Given the description of an element on the screen output the (x, y) to click on. 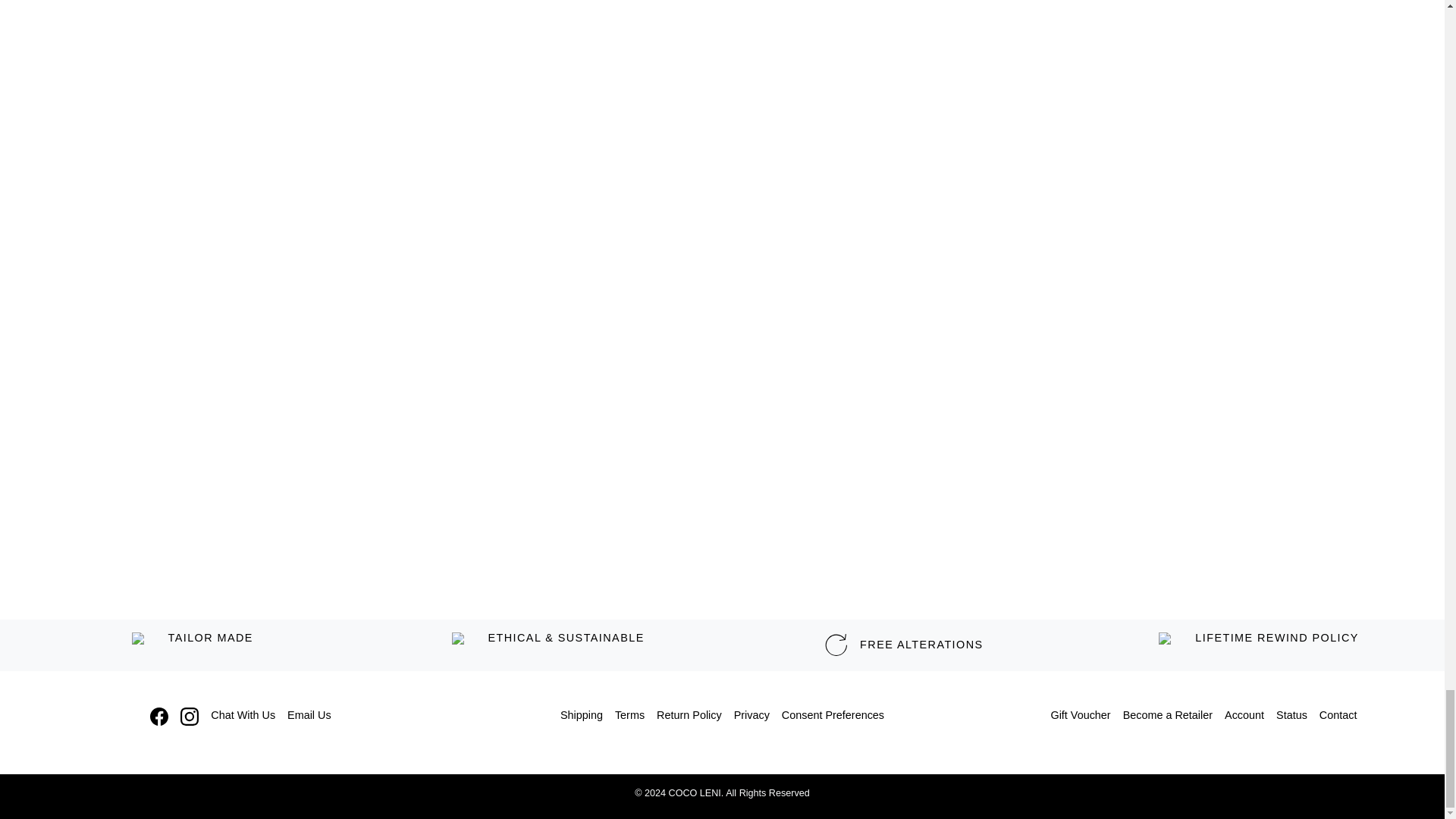
Status (1291, 715)
Return Policy (689, 715)
Shipping (581, 715)
Privacy (752, 715)
Contact (1337, 715)
Gift Voucher (1079, 715)
Become a Retailer (1167, 715)
Account (1243, 715)
AGB (629, 715)
